Given the description of an element on the screen output the (x, y) to click on. 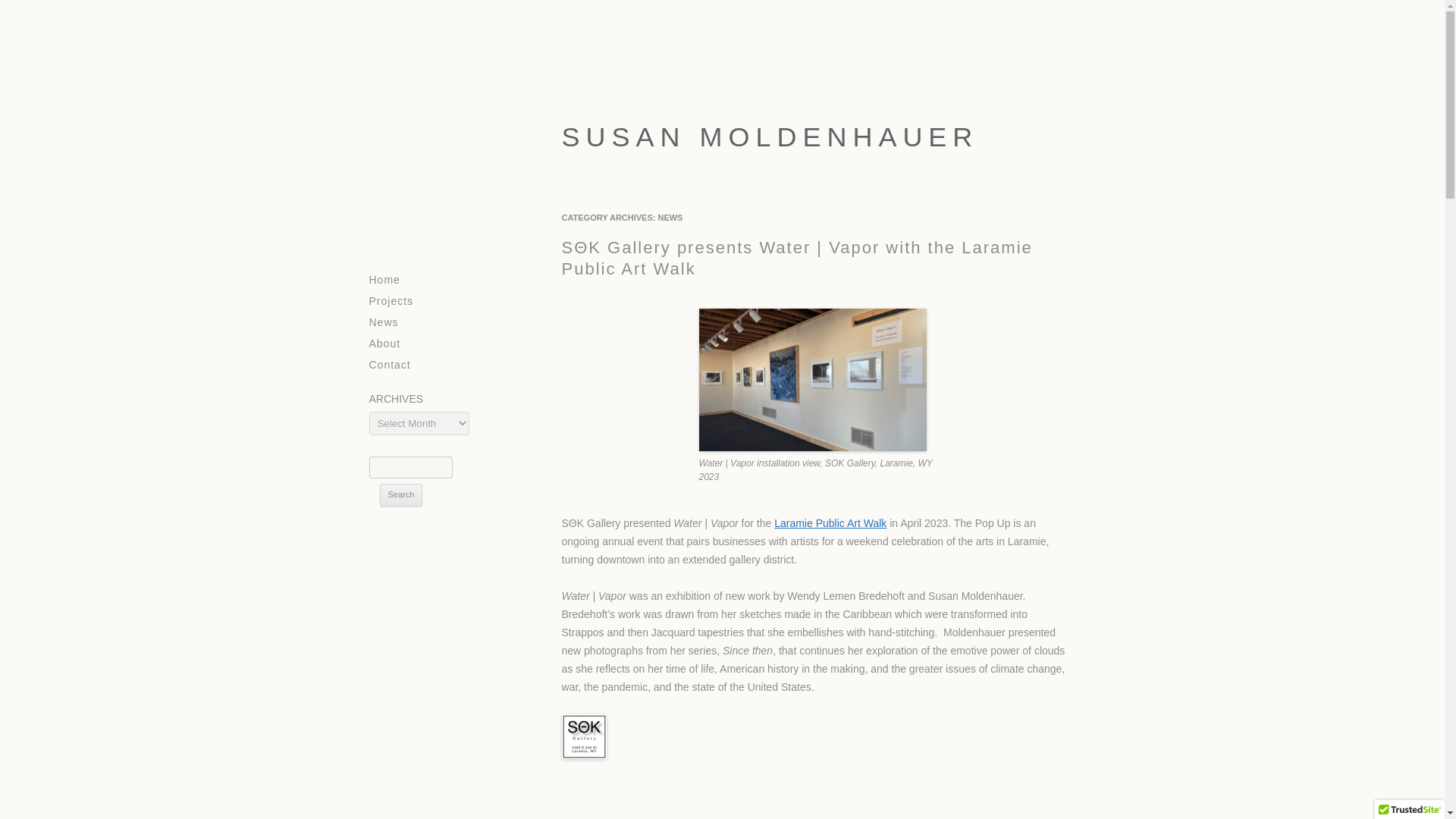
SUSAN MOLDENHAUER (719, 120)
Search (400, 495)
Laramie Public Art Walk (830, 522)
SUSAN MOLDENHAUER (719, 120)
Skip to content (393, 274)
